Given the description of an element on the screen output the (x, y) to click on. 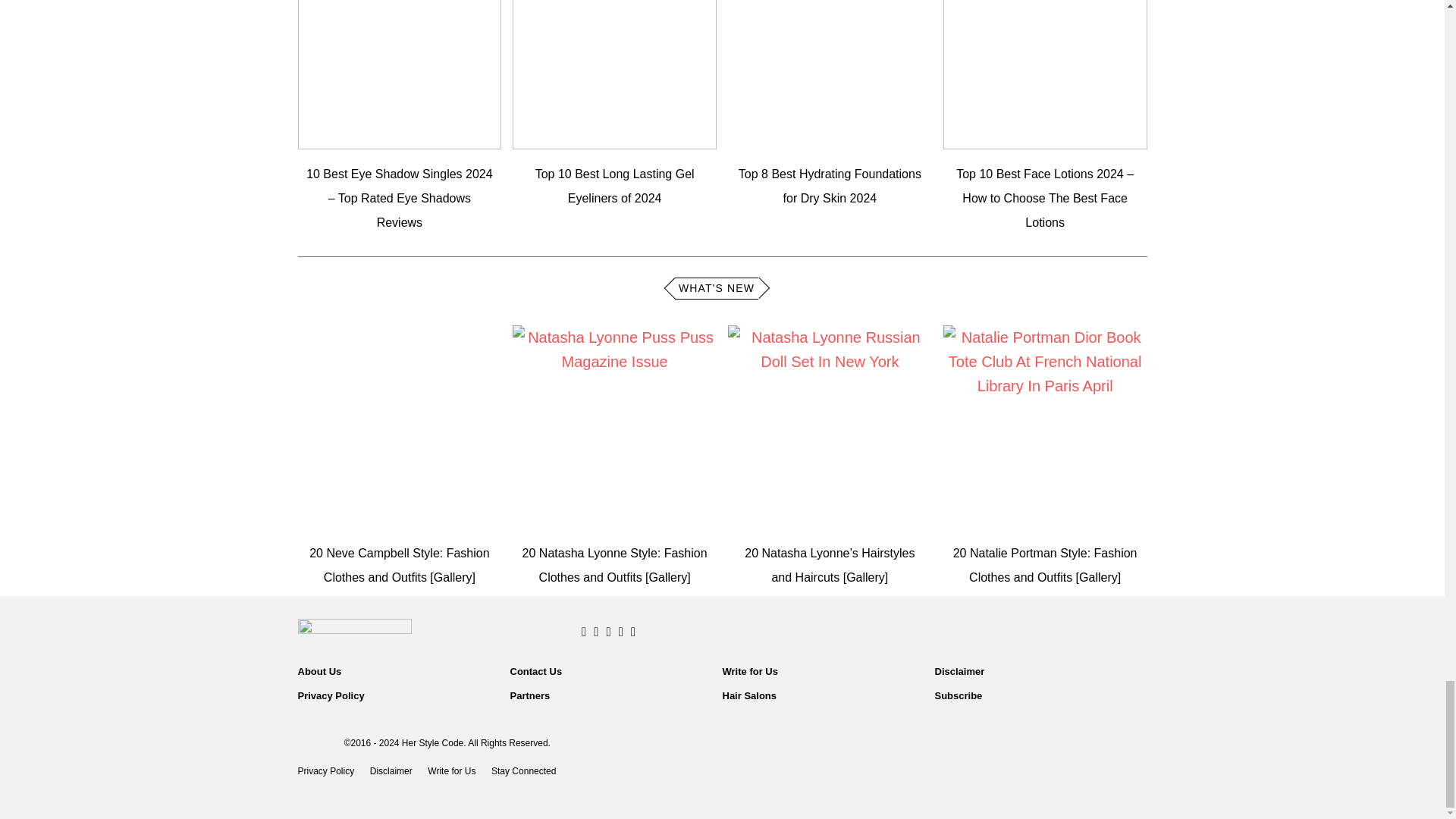
her style code (396, 630)
